Given the description of an element on the screen output the (x, y) to click on. 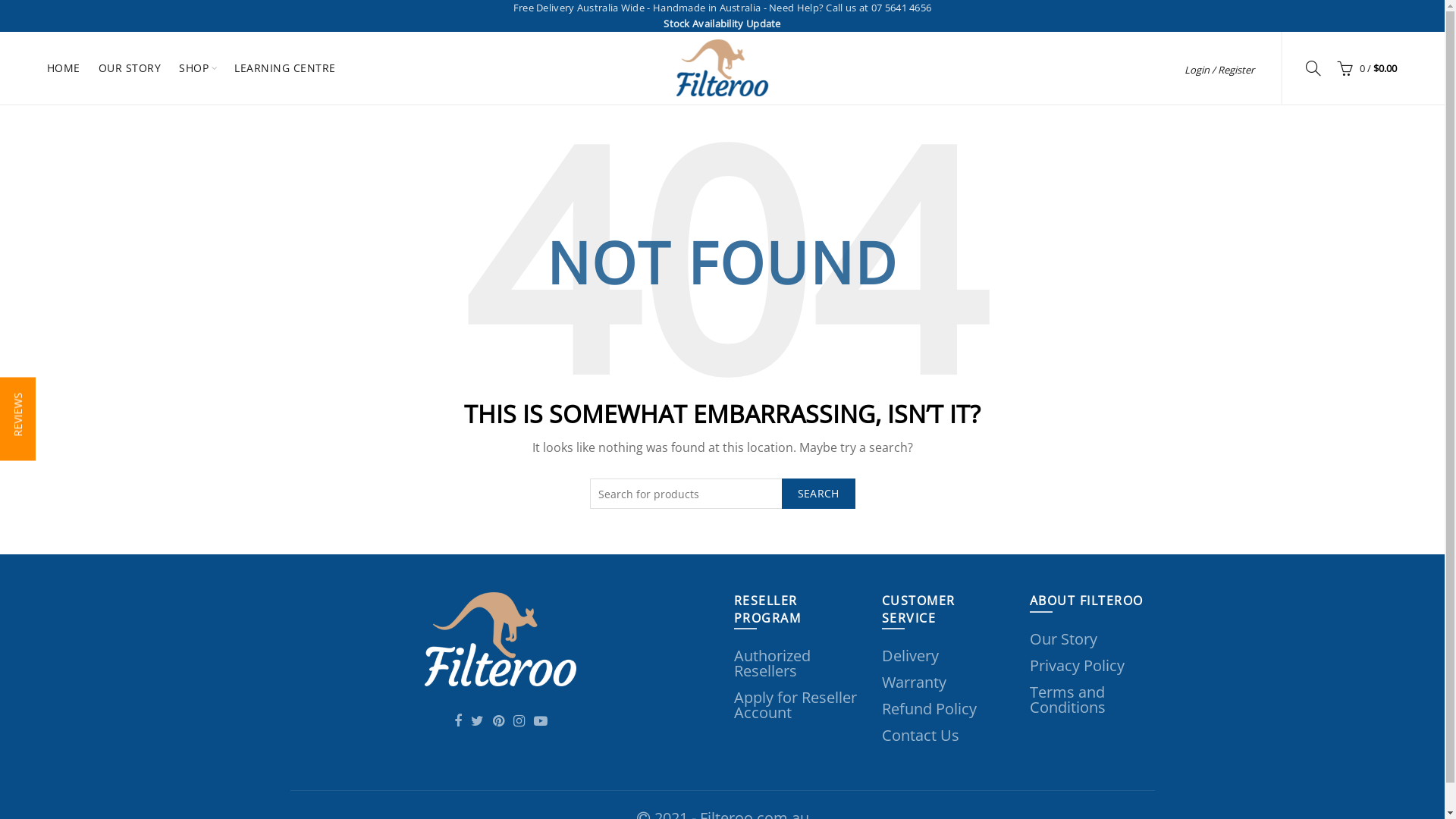
Authorized Resellers Element type: text (770, 663)
Stock Availability Update Element type: text (722, 23)
0 / $0.00 Element type: text (1363, 67)
Login / Register Element type: text (1217, 68)
Filteroo Element type: hover (500, 638)
Delivery Element type: text (908, 655)
Contact Us Element type: text (918, 735)
Terms and Conditions Element type: text (1067, 699)
Privacy Policy Element type: text (1076, 665)
Apply for Reseller Account Element type: text (793, 705)
Refund Policy Element type: text (927, 708)
HOME Element type: text (63, 67)
LEARNING CENTRE Element type: text (285, 67)
SHOP Element type: text (192, 67)
Warranty Element type: text (911, 682)
OUR STORY Element type: text (128, 67)
SEARCH Element type: text (815, 493)
Our Story Element type: text (1062, 638)
